Given the description of an element on the screen output the (x, y) to click on. 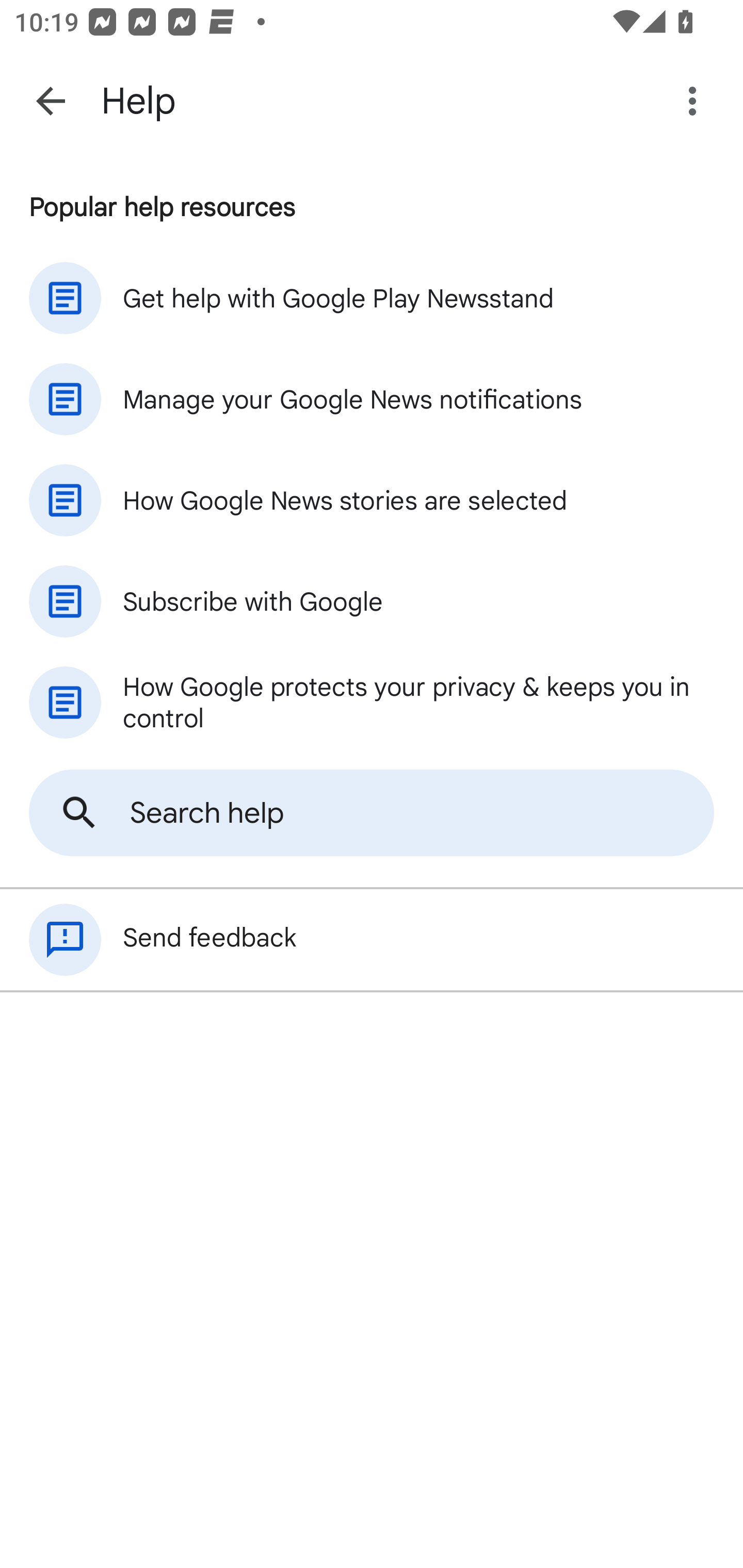
Navigate up (50, 101)
More options (696, 101)
Get help with Google Play Newsstand (371, 297)
Manage your Google News notifications (371, 399)
How Google News stories are selected (371, 500)
Subscribe with Google (371, 601)
Search help (371, 812)
Send feedback (371, 939)
